Given the description of an element on the screen output the (x, y) to click on. 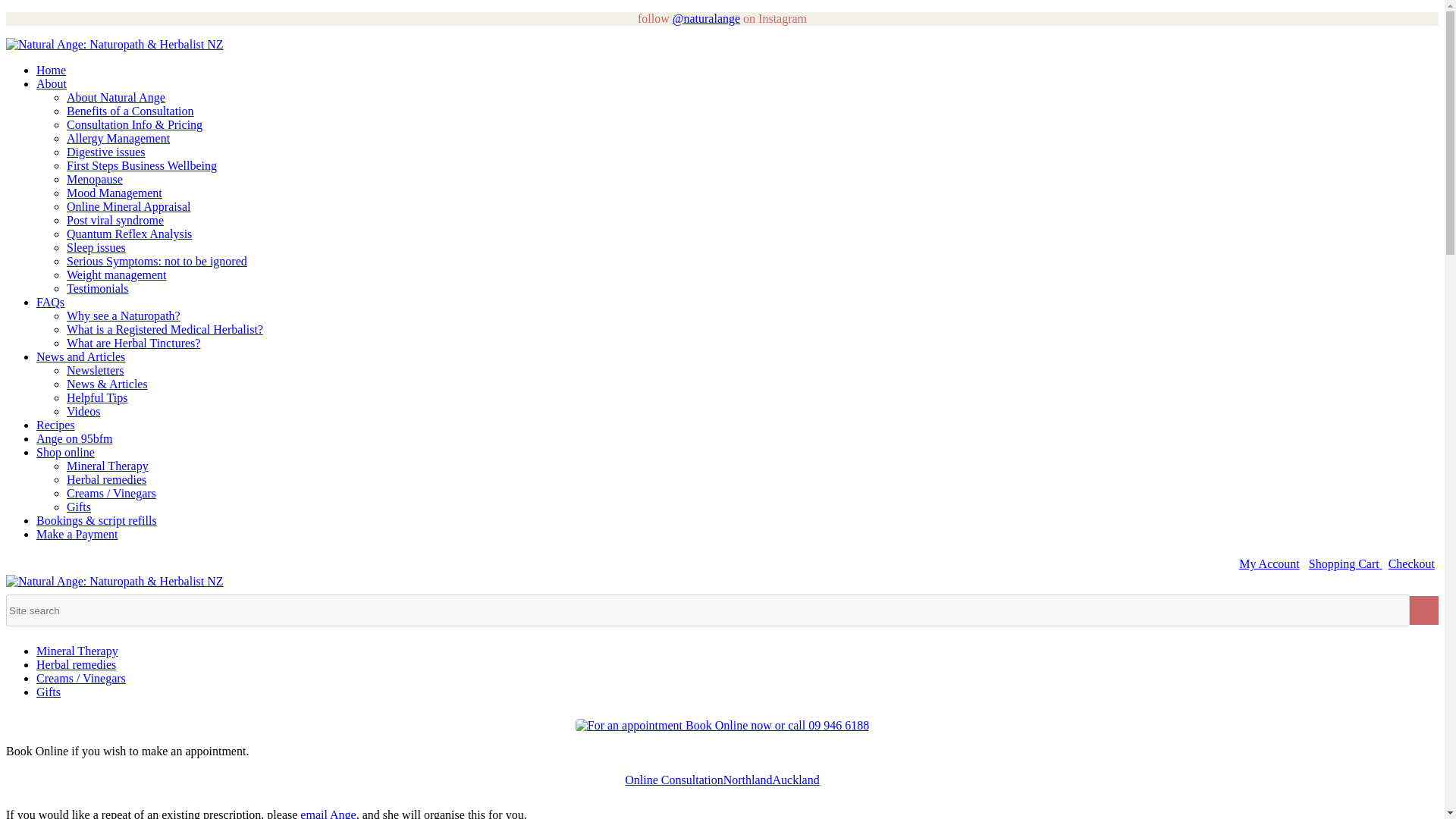
Make a Payment (76, 533)
Herbal remedies (106, 479)
Sleep issues (95, 246)
My Account (1269, 563)
FAQs (50, 301)
Quantum Reflex Analysis (129, 233)
Why see a Naturopath? (123, 315)
Digestive issues (105, 151)
Ange on 95bfm (74, 438)
Testimonials (97, 287)
Serious Symptoms: not to be ignored (156, 260)
Home (50, 69)
Online Mineral Appraisal (128, 205)
What is a Registered Medical Herbalist? (164, 328)
For an appointment Book Online now or call 09 946 6188 (722, 725)
